Given the description of an element on the screen output the (x, y) to click on. 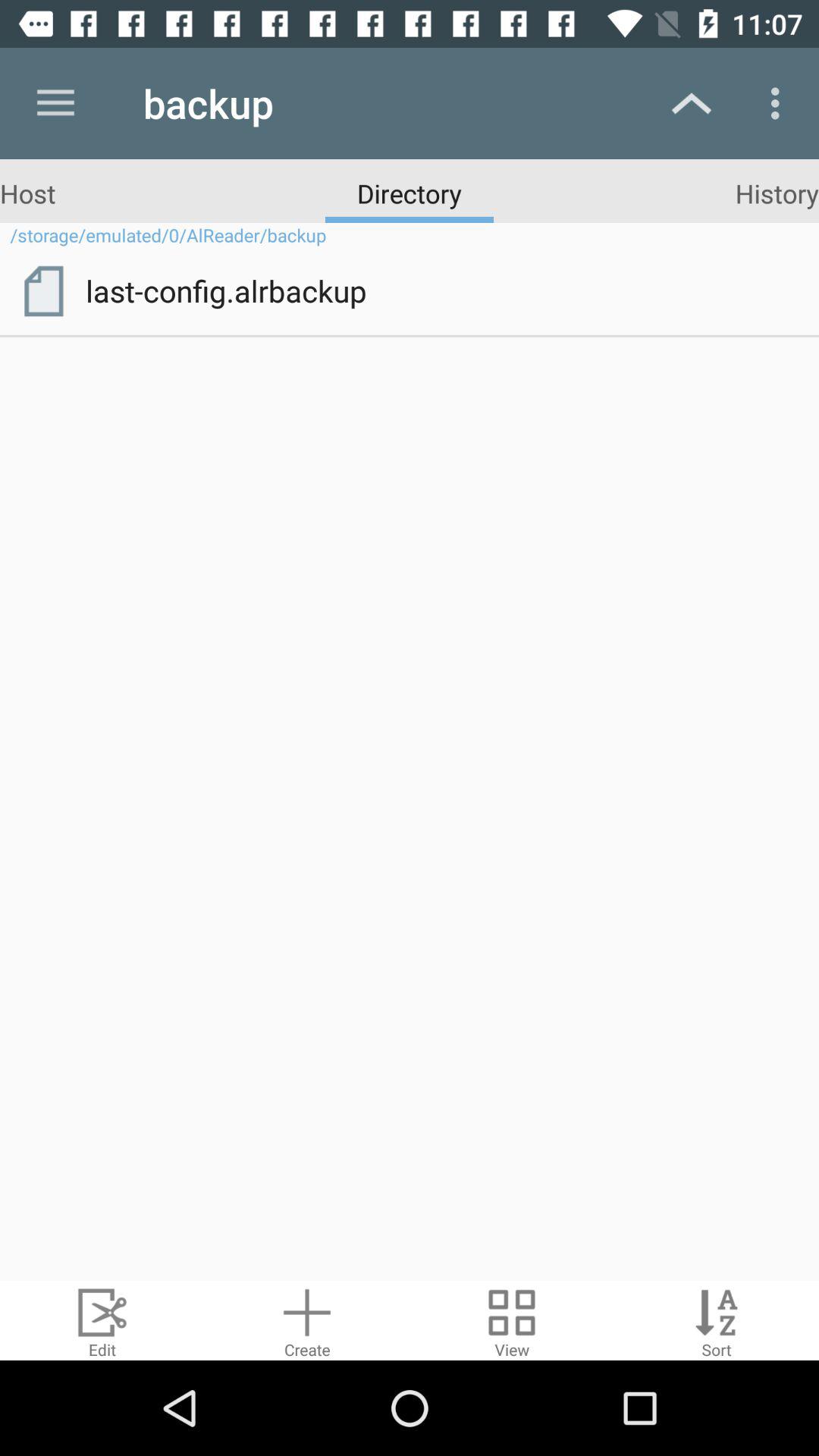
turn off the item above storage emulated 0 (27, 193)
